Given the description of an element on the screen output the (x, y) to click on. 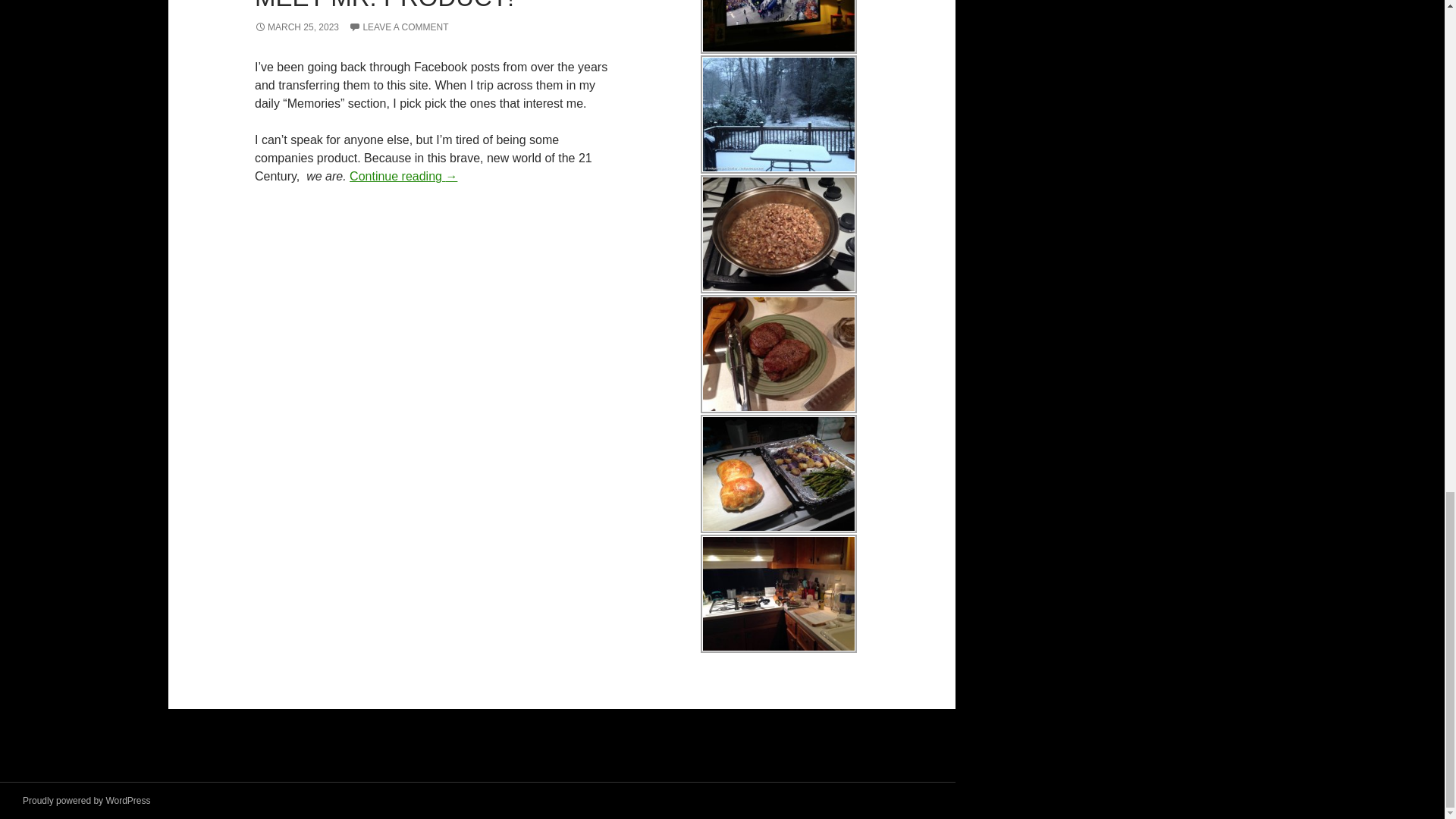
MEET MR. PRODUCT! (383, 5)
MARCH 25, 2023 (296, 27)
LEAVE A COMMENT (398, 27)
